Given the description of an element on the screen output the (x, y) to click on. 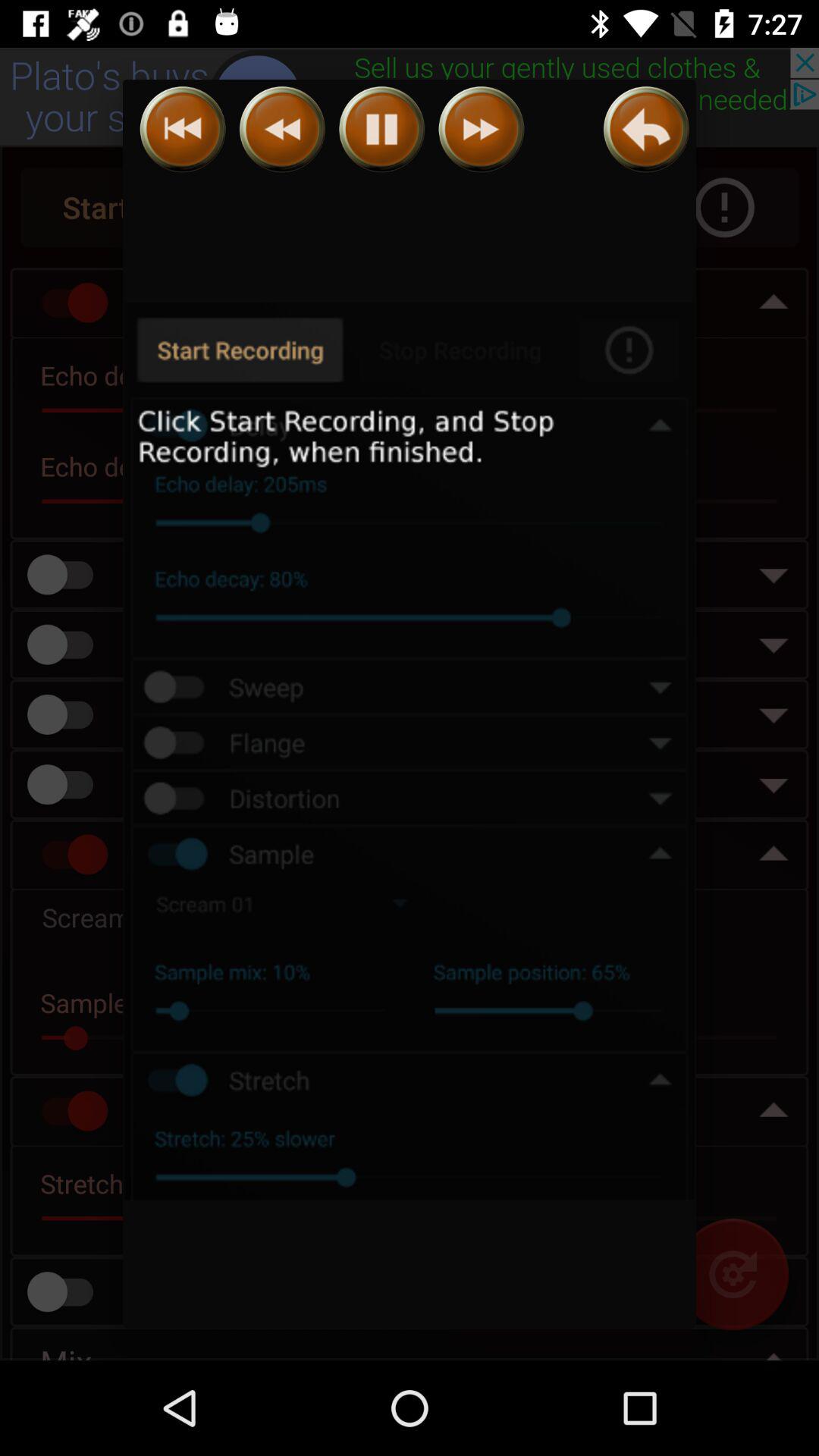
press the item at the top left corner (182, 129)
